Given the description of an element on the screen output the (x, y) to click on. 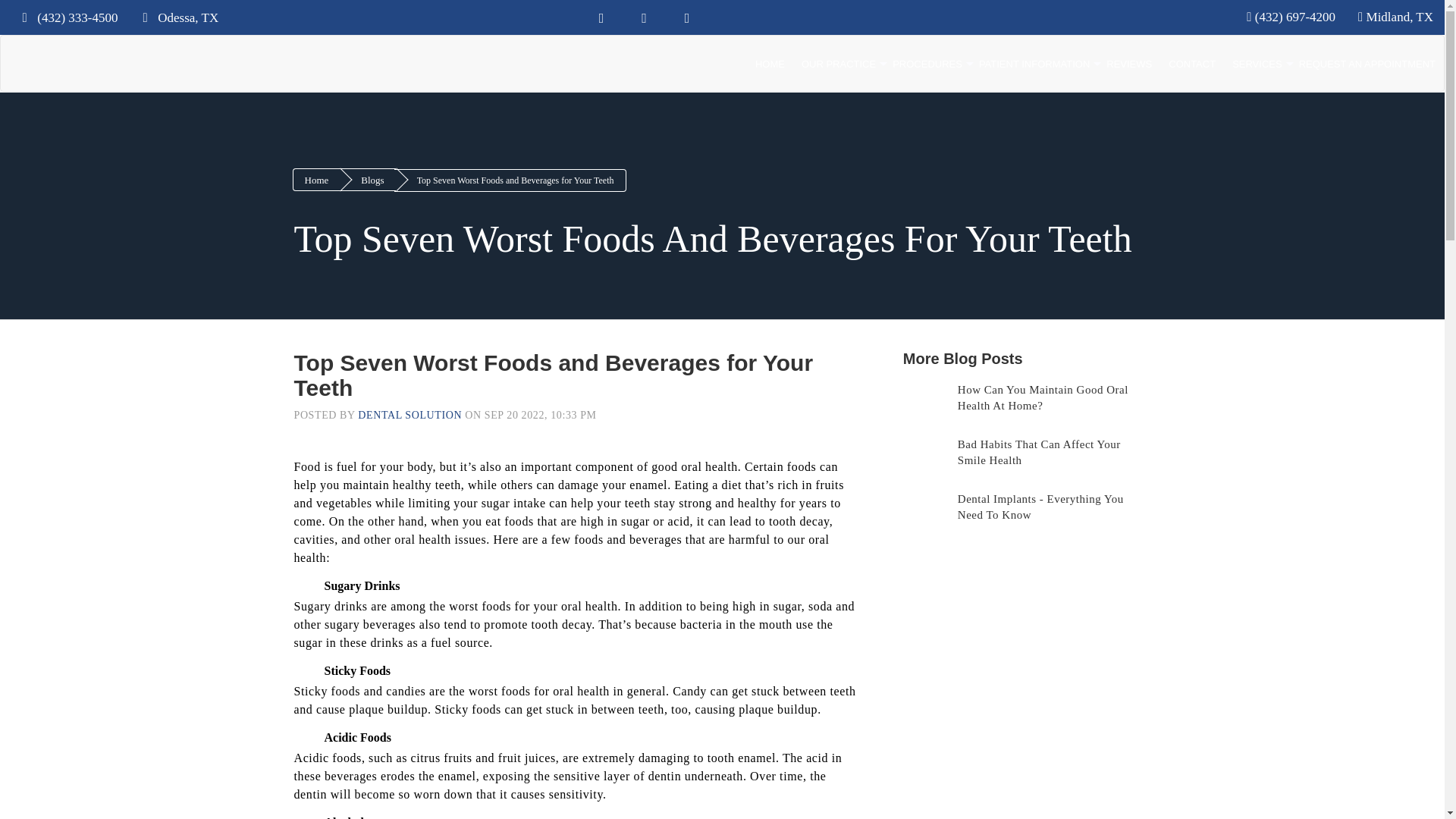
Odessa, TX (176, 17)
OUR PRACTICE (838, 64)
HOME (769, 64)
SERVICES (1257, 64)
Dental Solution (22, 43)
PROCEDURES (927, 64)
REVIEWS (1128, 64)
PATIENT INFORMATION (1034, 64)
CONTACT (1192, 64)
